Given the description of an element on the screen output the (x, y) to click on. 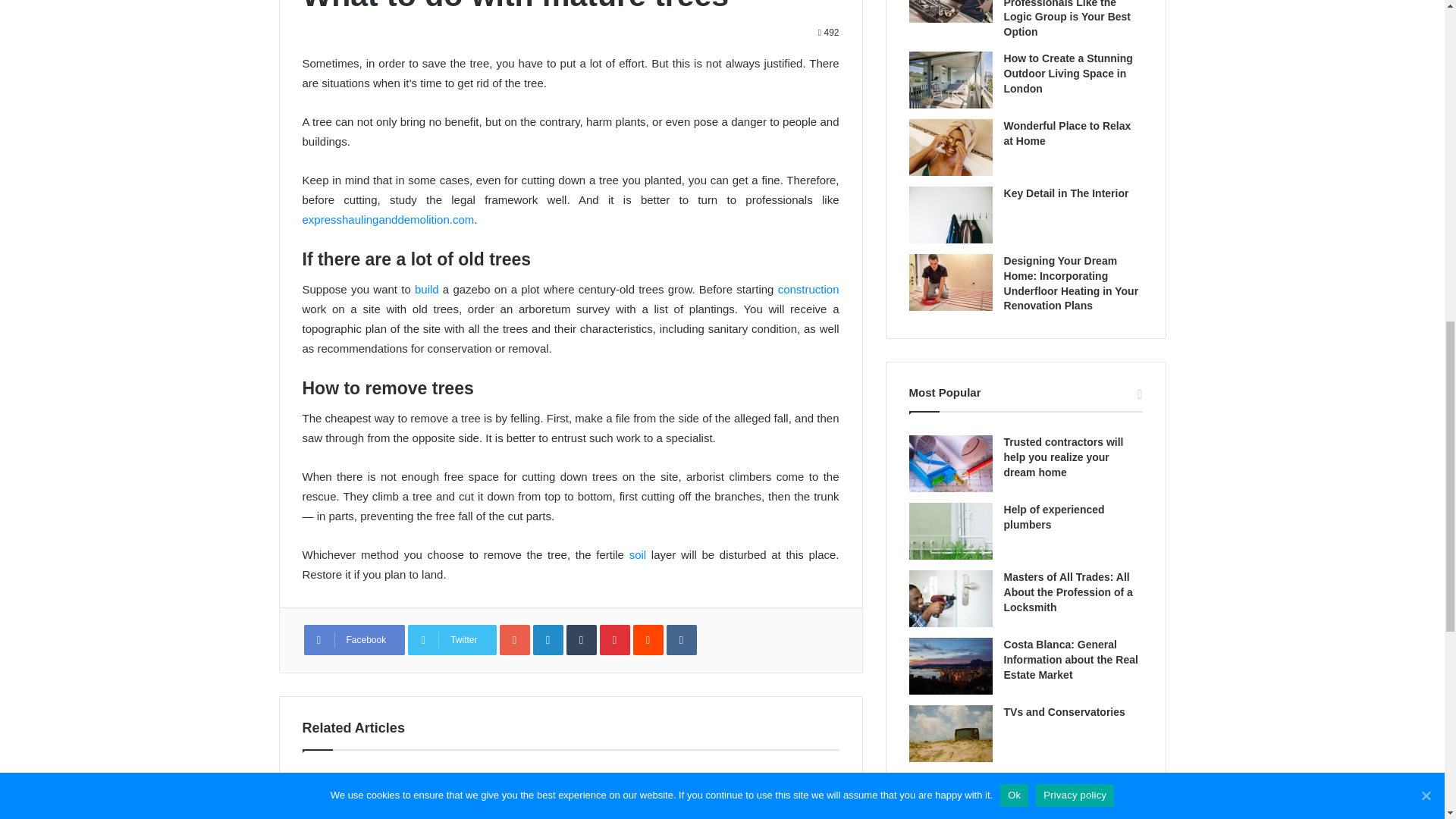
Reddit (648, 639)
expresshaulinganddemolition.com (387, 219)
Tumblr (581, 639)
How to Attract Robins to Your Garden in the UK (383, 796)
VKontakte (681, 639)
How to Create a Stunning Outdoor Living Space in London (1068, 73)
Installation nuances of metal fence (756, 796)
construction (808, 288)
Safe Coating for Different Surfaces (569, 796)
Facebook (353, 639)
Pinterest (614, 639)
soil (637, 554)
LinkedIn (547, 639)
